Given the description of an element on the screen output the (x, y) to click on. 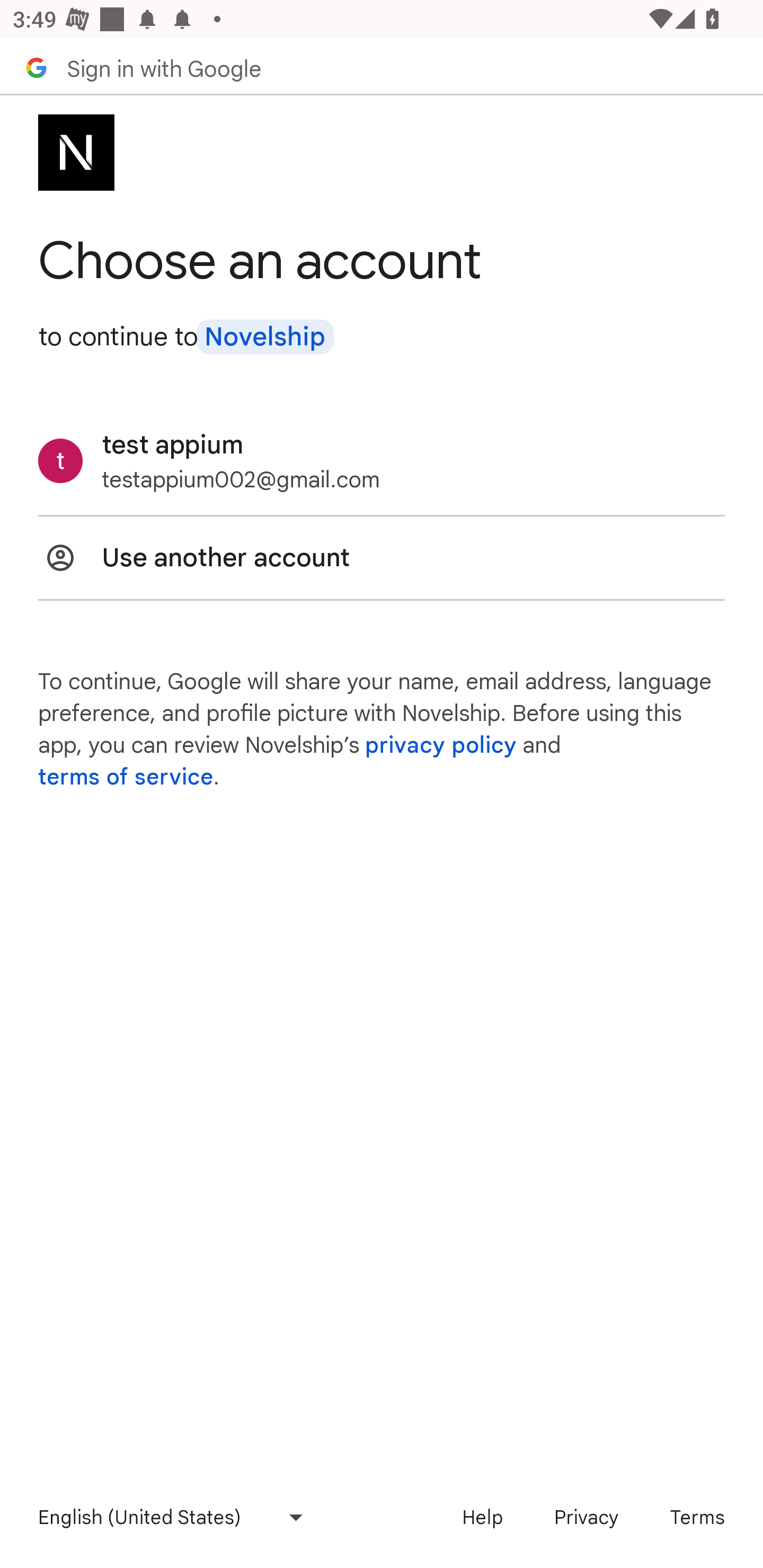
Novelship (264, 336)
Use another account (381, 556)
privacy policy (440, 744)
terms of service (126, 776)
Help (481, 1517)
Privacy (586, 1517)
Terms (696, 1517)
